Given the description of an element on the screen output the (x, y) to click on. 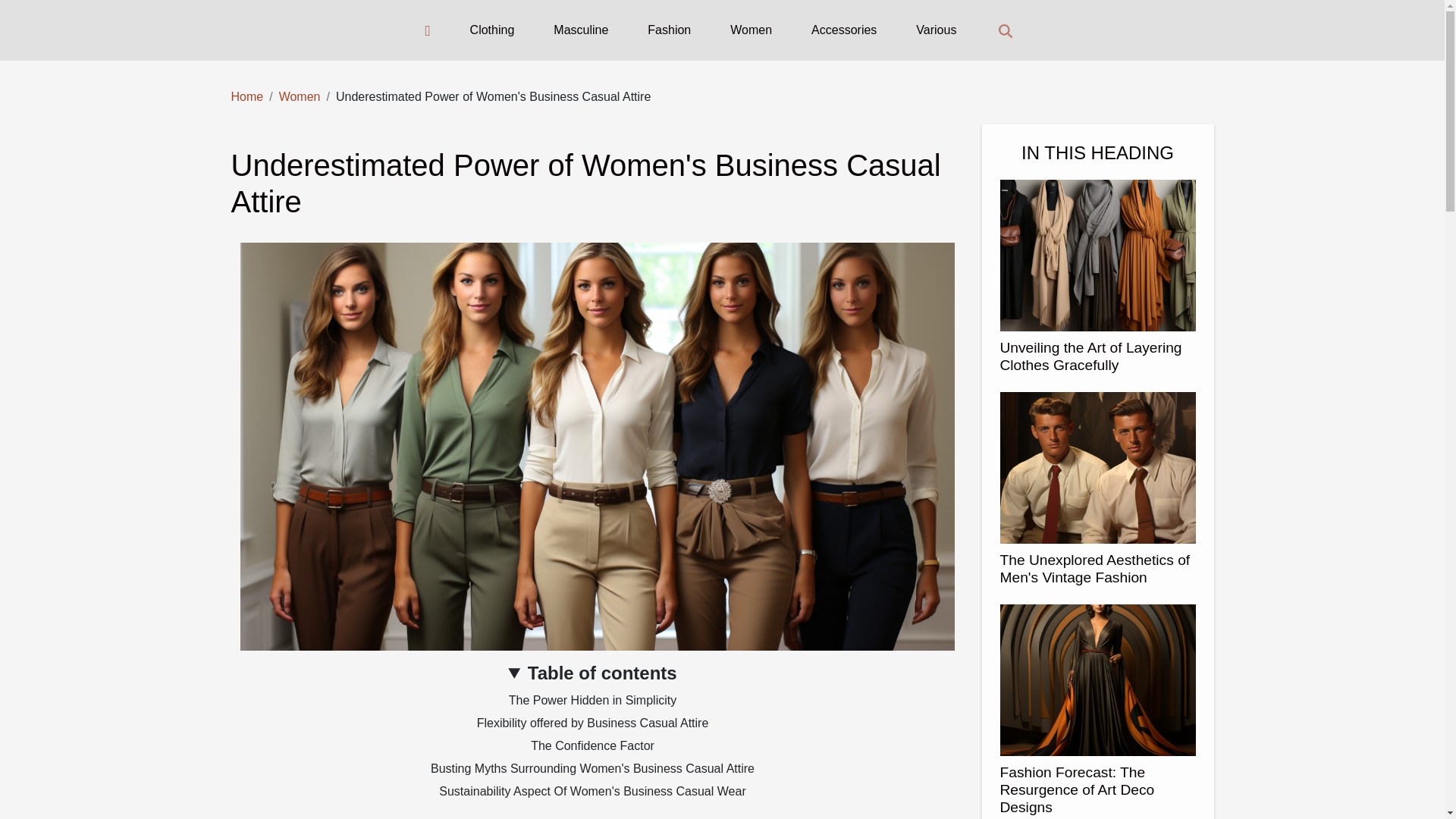
Fashion Forecast: The Resurgence of Art Deco Designs (1096, 678)
Women (750, 30)
The Unexplored Aesthetics of Men's Vintage Fashion (1093, 568)
Busting Myths Surrounding Women's Business Casual Attire (592, 768)
Clothing (492, 30)
Unveiling the Art of Layering Clothes Gracefully (1089, 356)
Unveiling the Art of Layering Clothes Gracefully (1089, 356)
The Confidence Factor (592, 745)
Fashion Forecast: The Resurgence of Art Deco Designs (1076, 789)
Fashion Forecast: The Resurgence of Art Deco Designs (1076, 789)
